Given the description of an element on the screen output the (x, y) to click on. 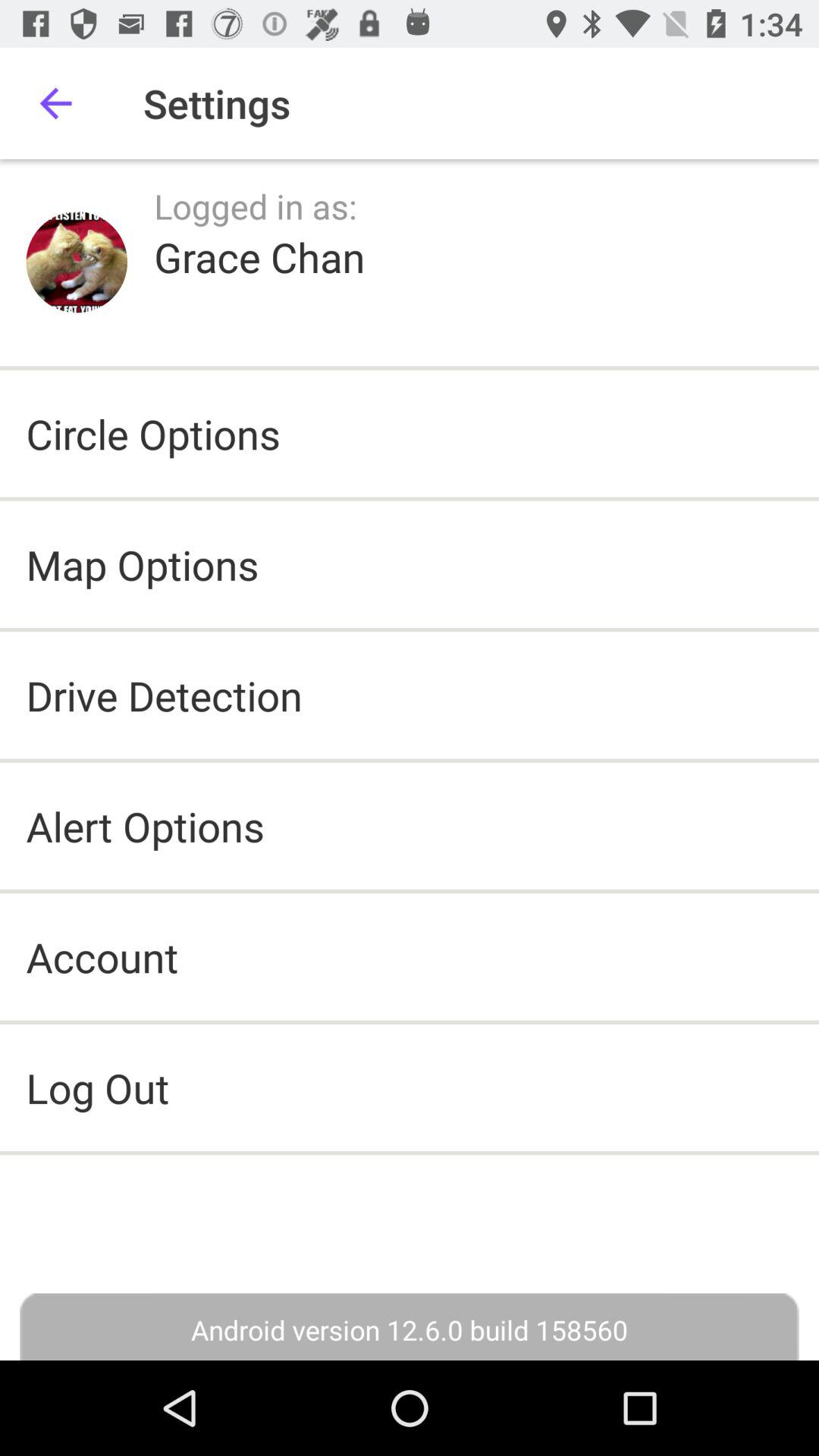
click icon below the drive detection item (145, 825)
